Given the description of an element on the screen output the (x, y) to click on. 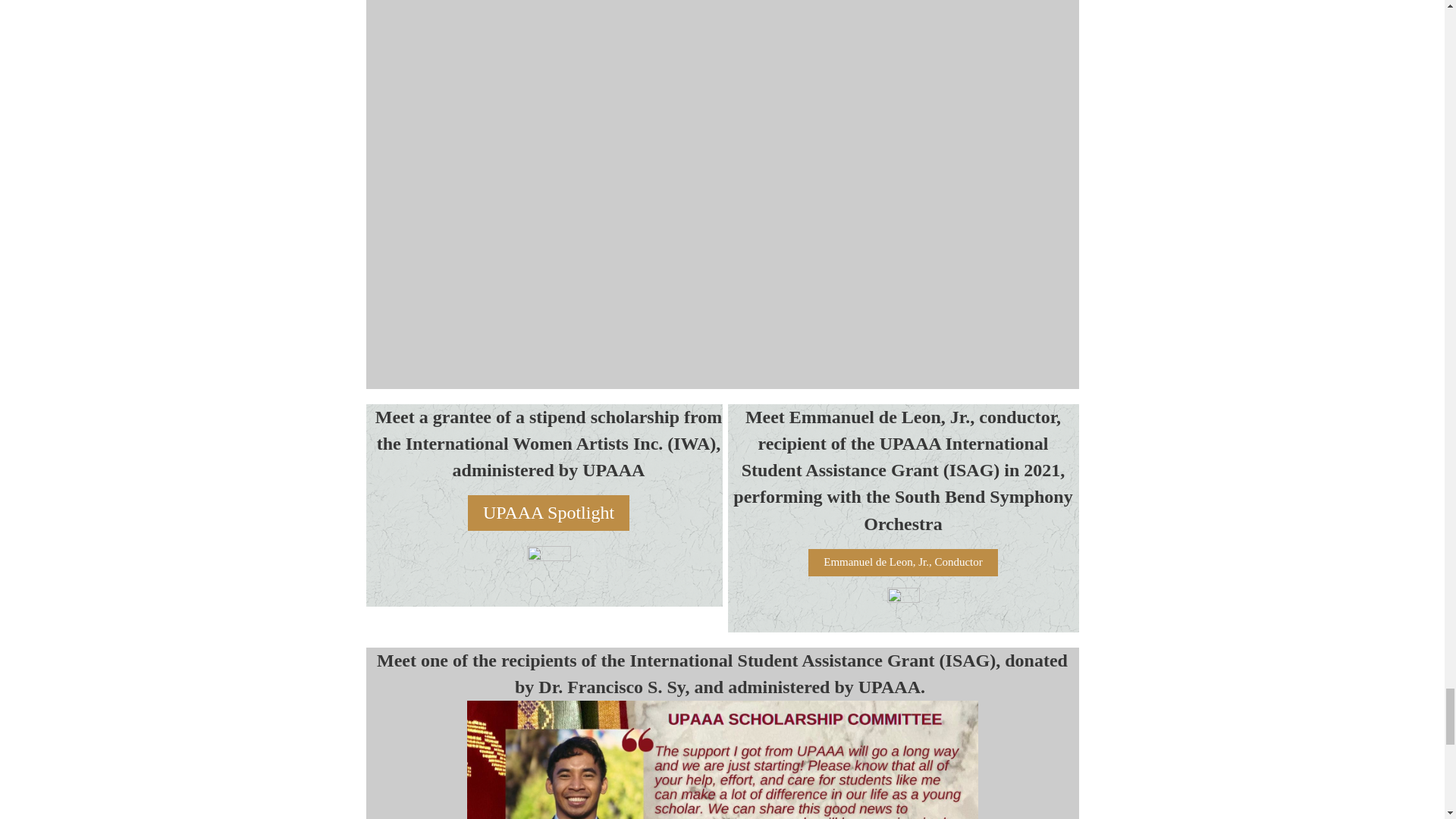
Emmanuel de Leon, Jr., Conductor (902, 562)
UPAAA Spotlight (547, 512)
